Given the description of an element on the screen output the (x, y) to click on. 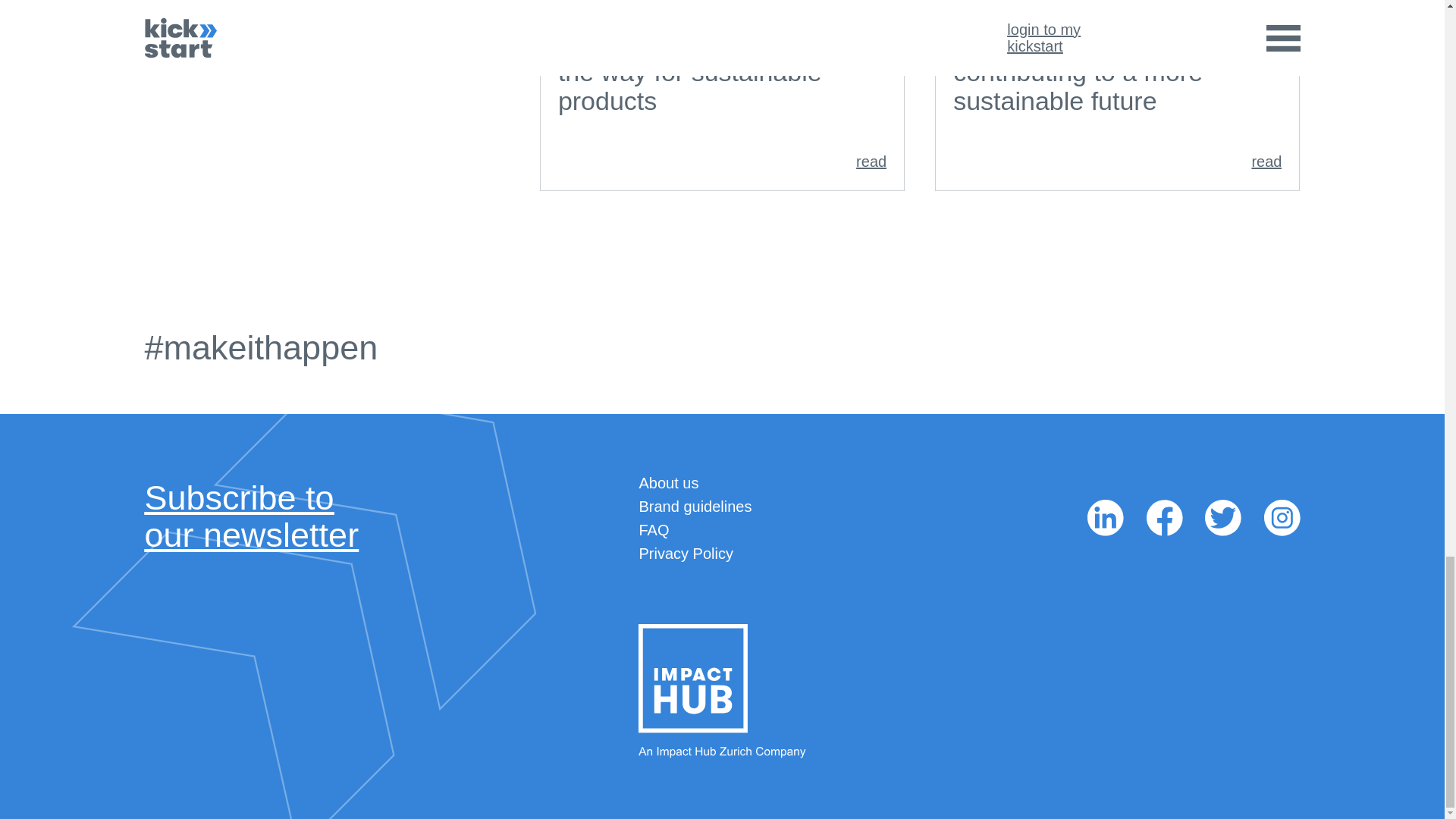
read (1117, 161)
Brand guidelines (251, 516)
About us (695, 506)
read (668, 483)
FAQ (721, 161)
Privacy Policy (653, 529)
